Given the description of an element on the screen output the (x, y) to click on. 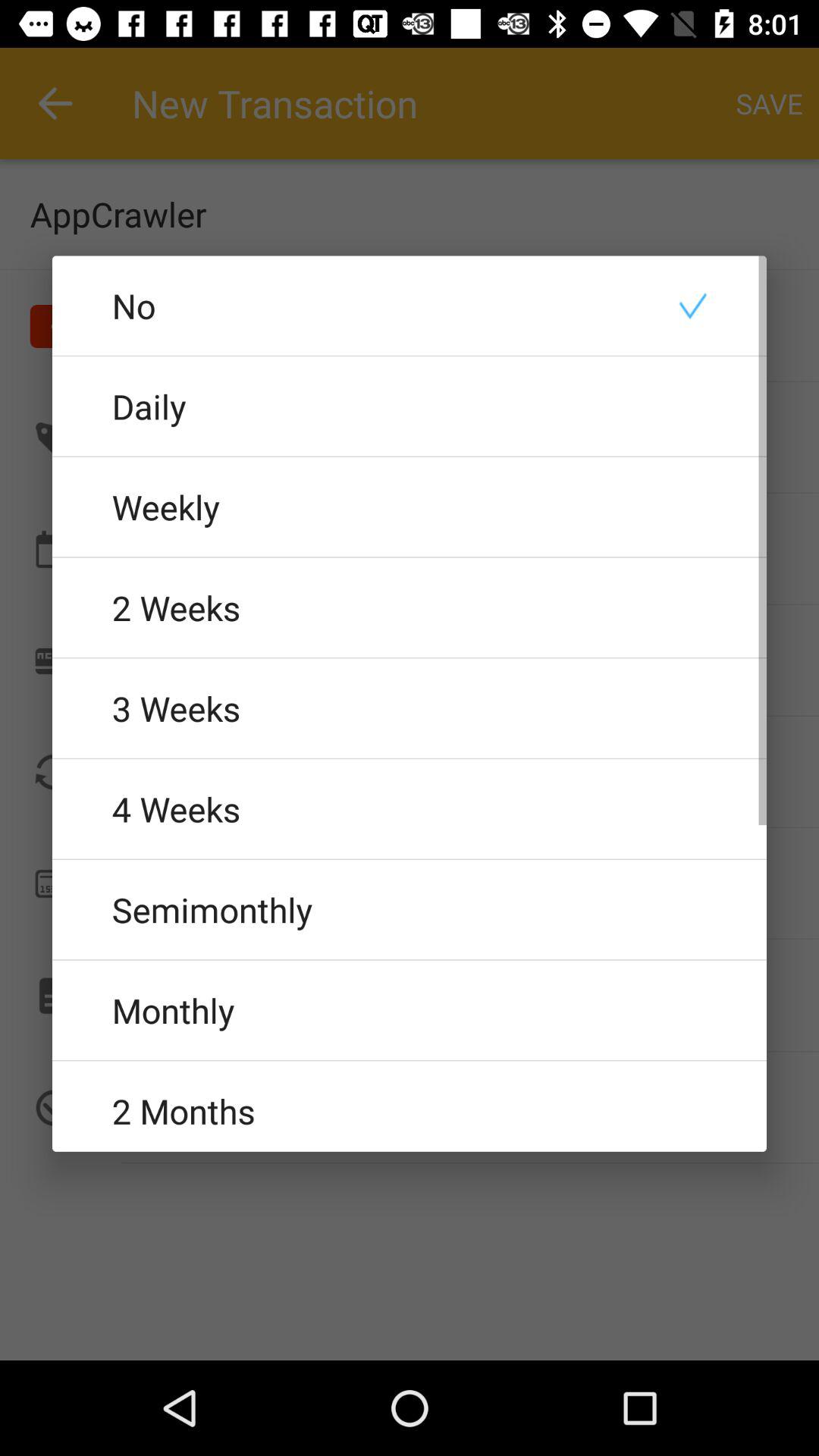
flip until 2 months radio button (409, 1106)
